Given the description of an element on the screen output the (x, y) to click on. 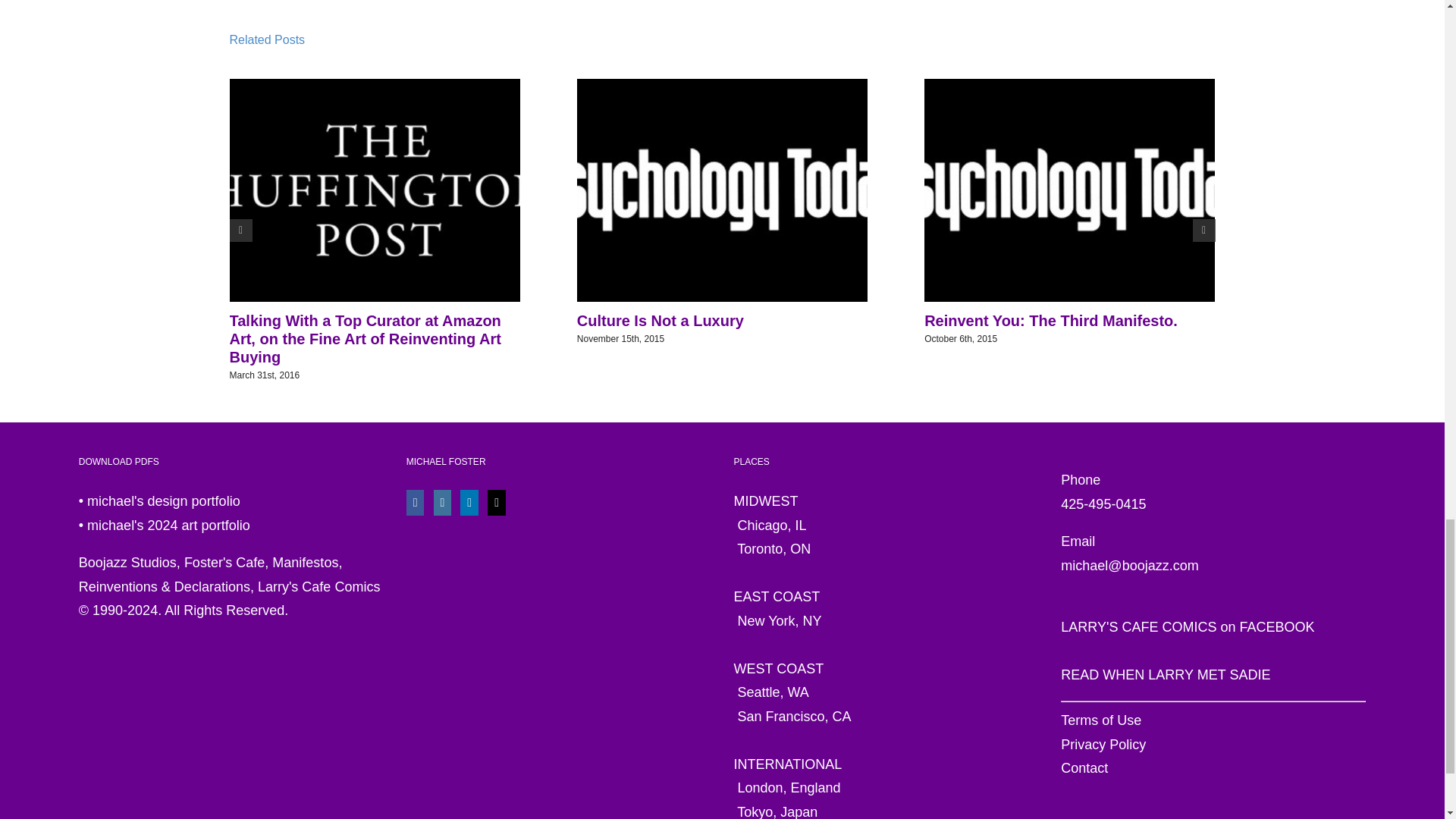
Culture Is Not a Luxury (660, 320)
Reinvent You: The Third Manifesto. (1050, 320)
